Given the description of an element on the screen output the (x, y) to click on. 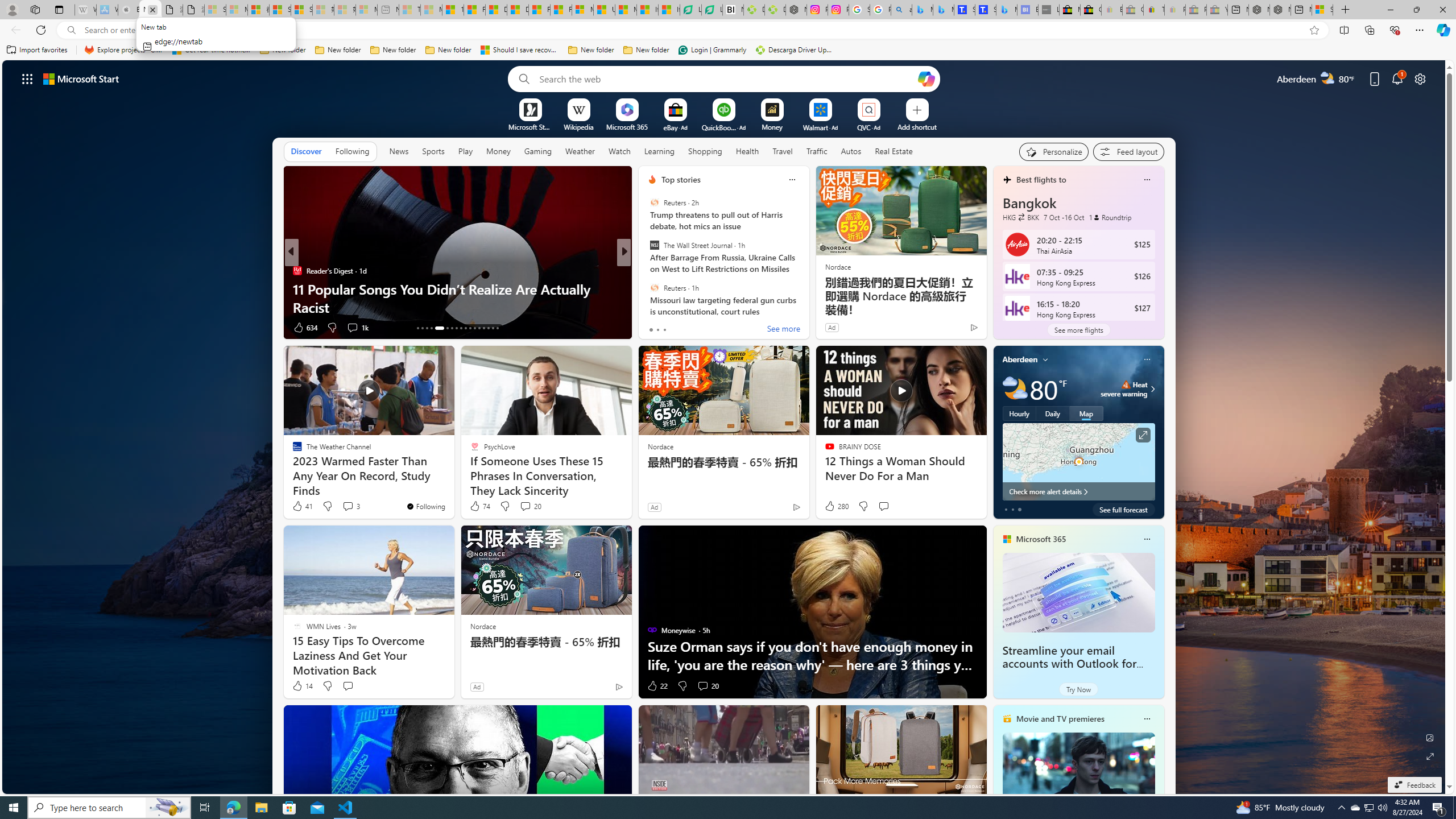
634 Like (304, 327)
Press Room - eBay Inc. - Sleeping (1195, 9)
Click to see more information (1142, 434)
Partly cloudy (1014, 388)
Partly cloudy (1014, 388)
